Given the description of an element on the screen output the (x, y) to click on. 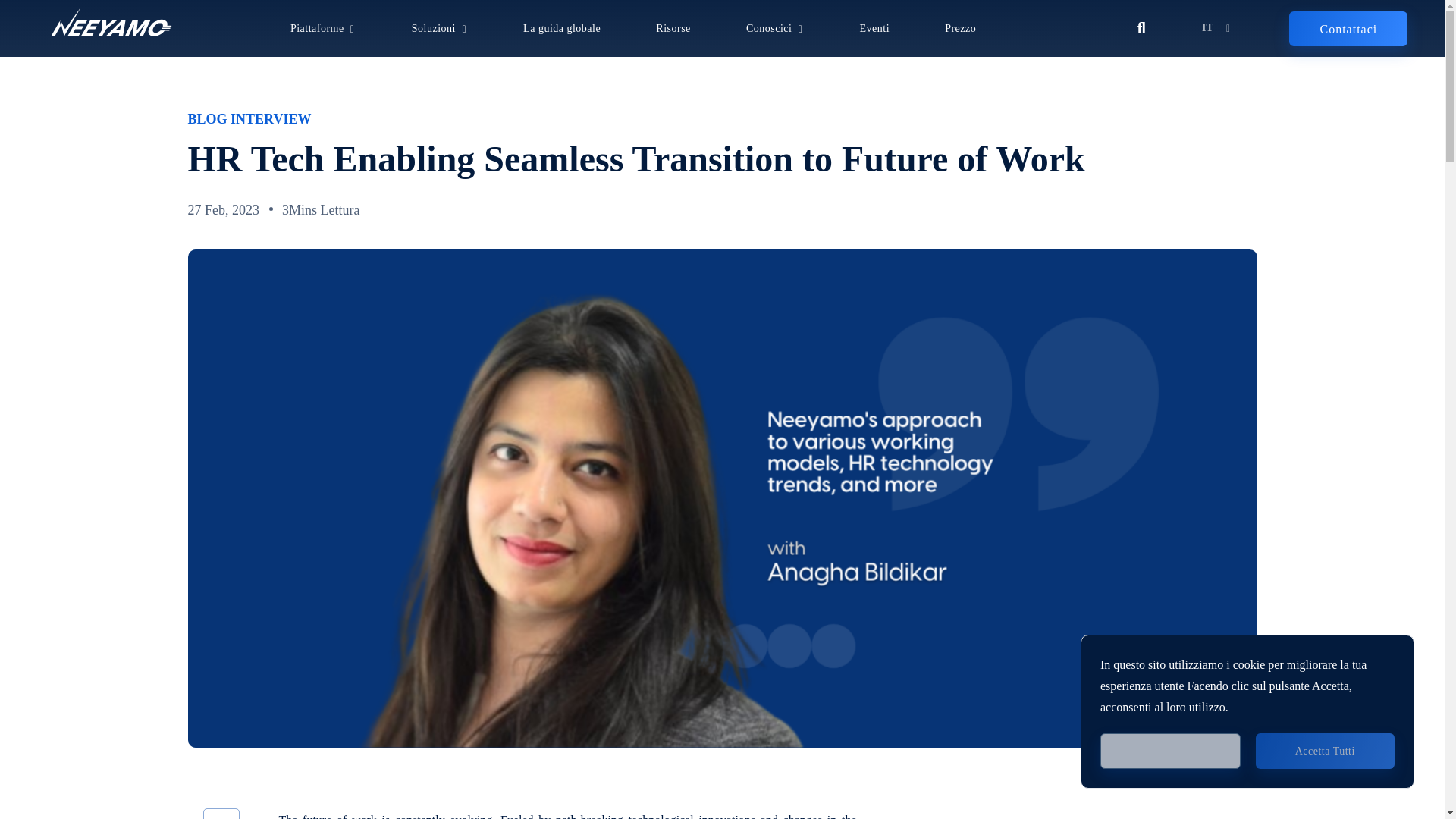
Neeyamo (111, 22)
Piattaforme (316, 28)
Accetta Tutti (1324, 751)
Salta al contenuto principale (721, 1)
Impostazioni Cookie (1170, 751)
